Given the description of an element on the screen output the (x, y) to click on. 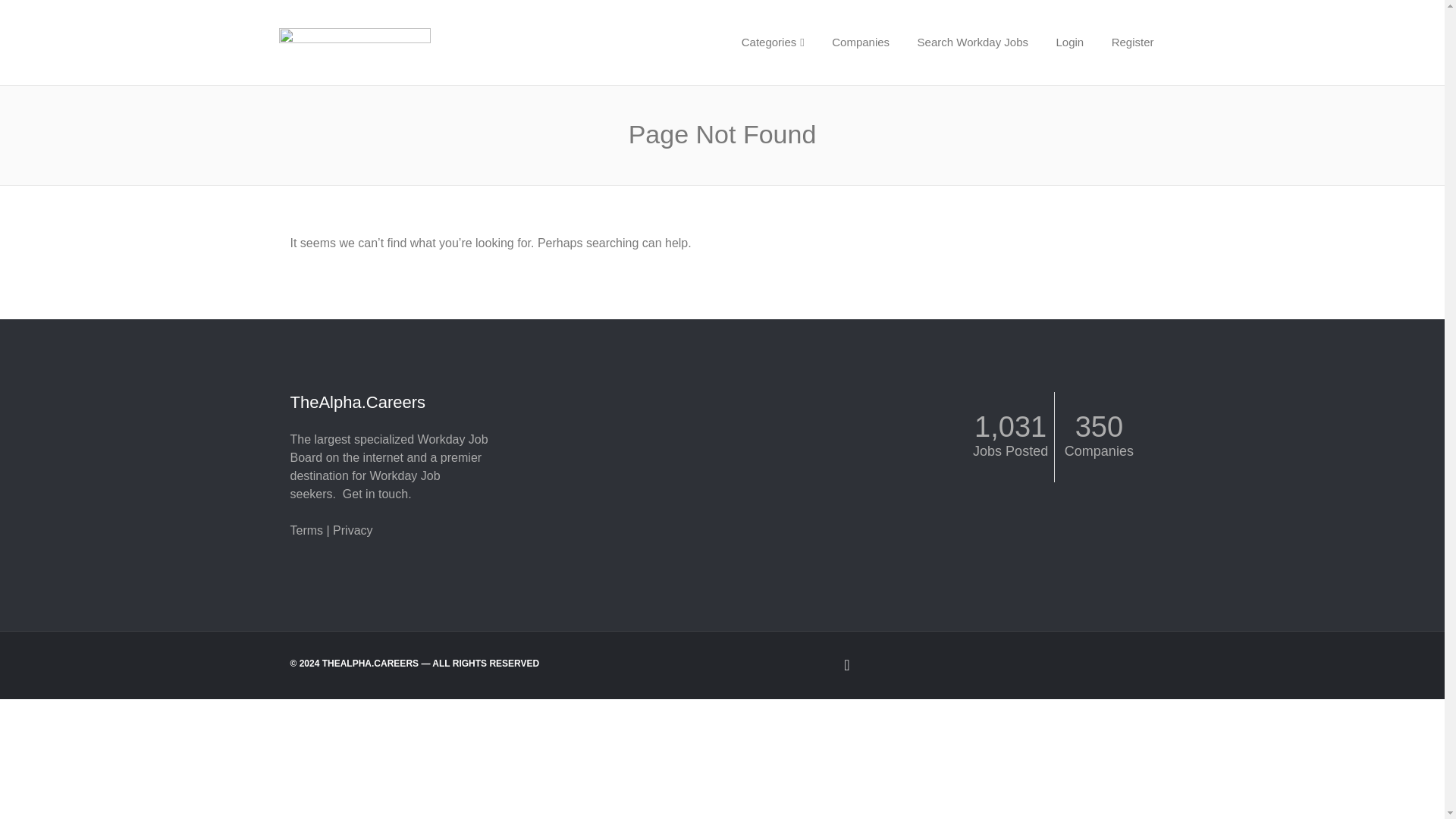
Search Workday Jobs (973, 42)
Get in touch. (377, 493)
Register (1132, 42)
Terms (306, 530)
THEALPHA.CAREERS (408, 42)
Categories (772, 42)
TheAlpha.Careers (408, 42)
Login (1069, 42)
Companies (860, 42)
Privacy (352, 530)
Back to Top (721, 664)
